Given the description of an element on the screen output the (x, y) to click on. 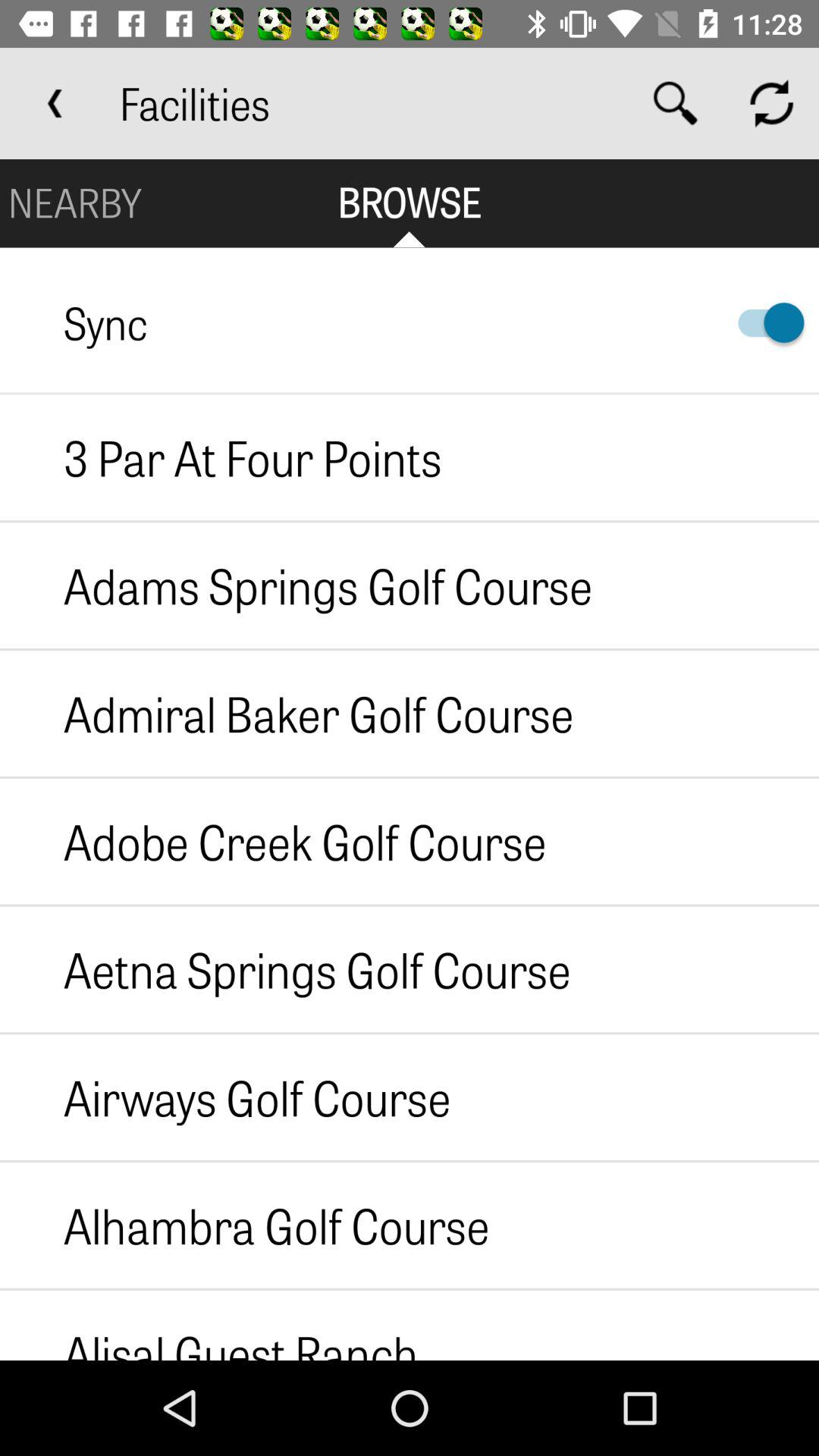
press item below the airways golf course (244, 1225)
